Given the description of an element on the screen output the (x, y) to click on. 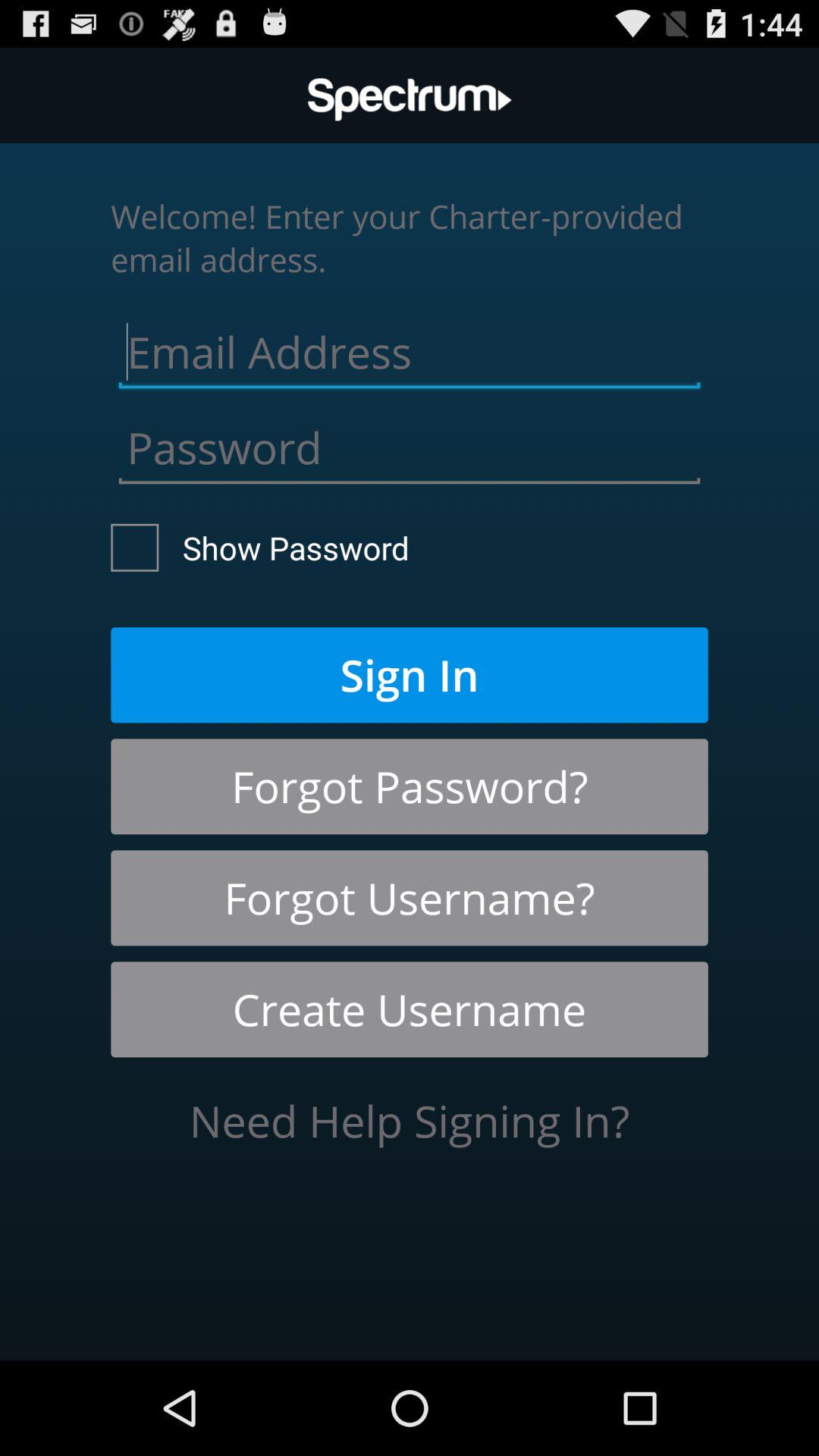
turn off sign in item (409, 674)
